Given the description of an element on the screen output the (x, y) to click on. 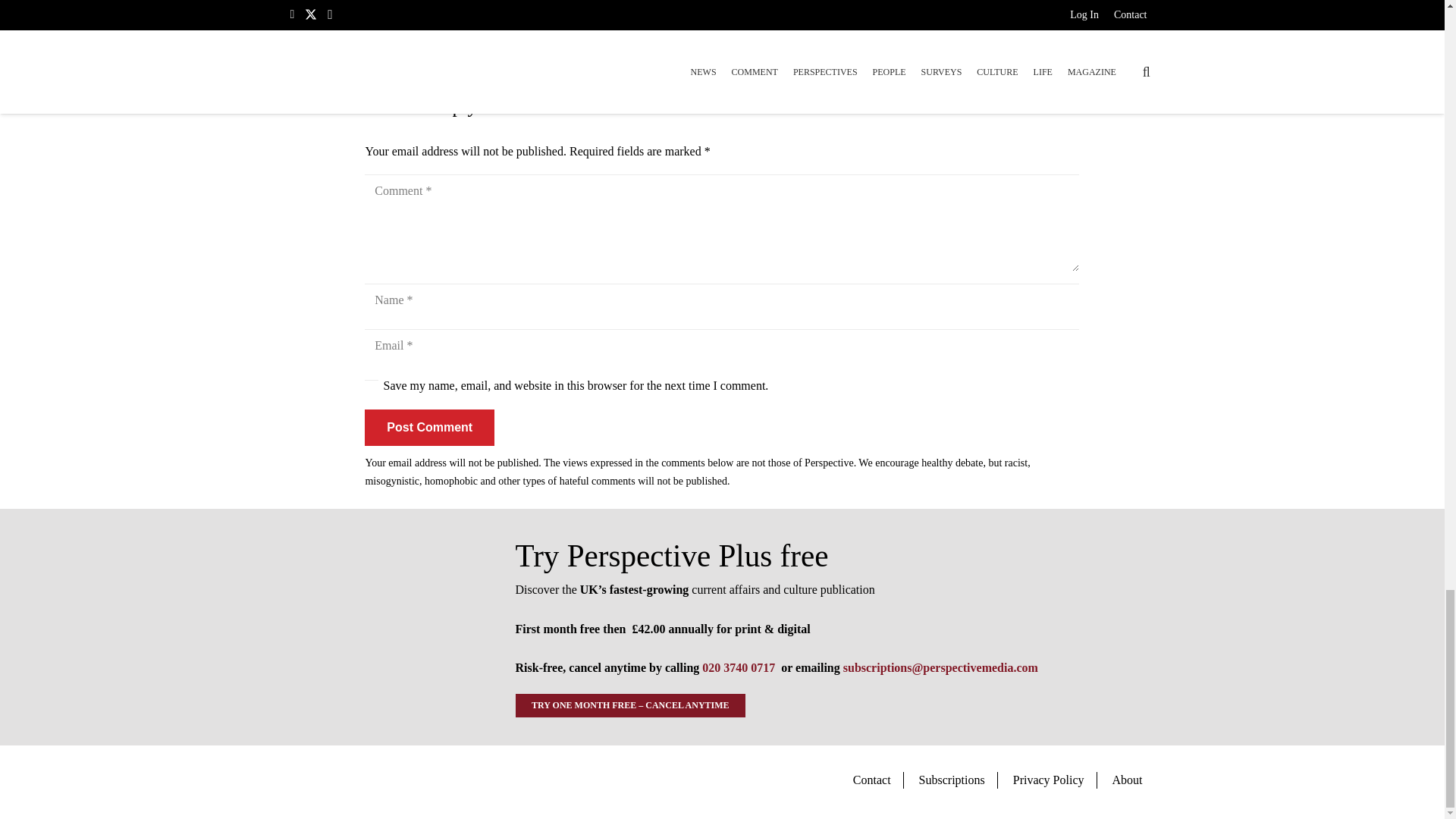
1 (371, 386)
Trial Offer (383, 627)
020 3740 0717 (737, 667)
Claim Offer (722, 13)
Post Comment (430, 427)
News (378, 57)
